Given the description of an element on the screen output the (x, y) to click on. 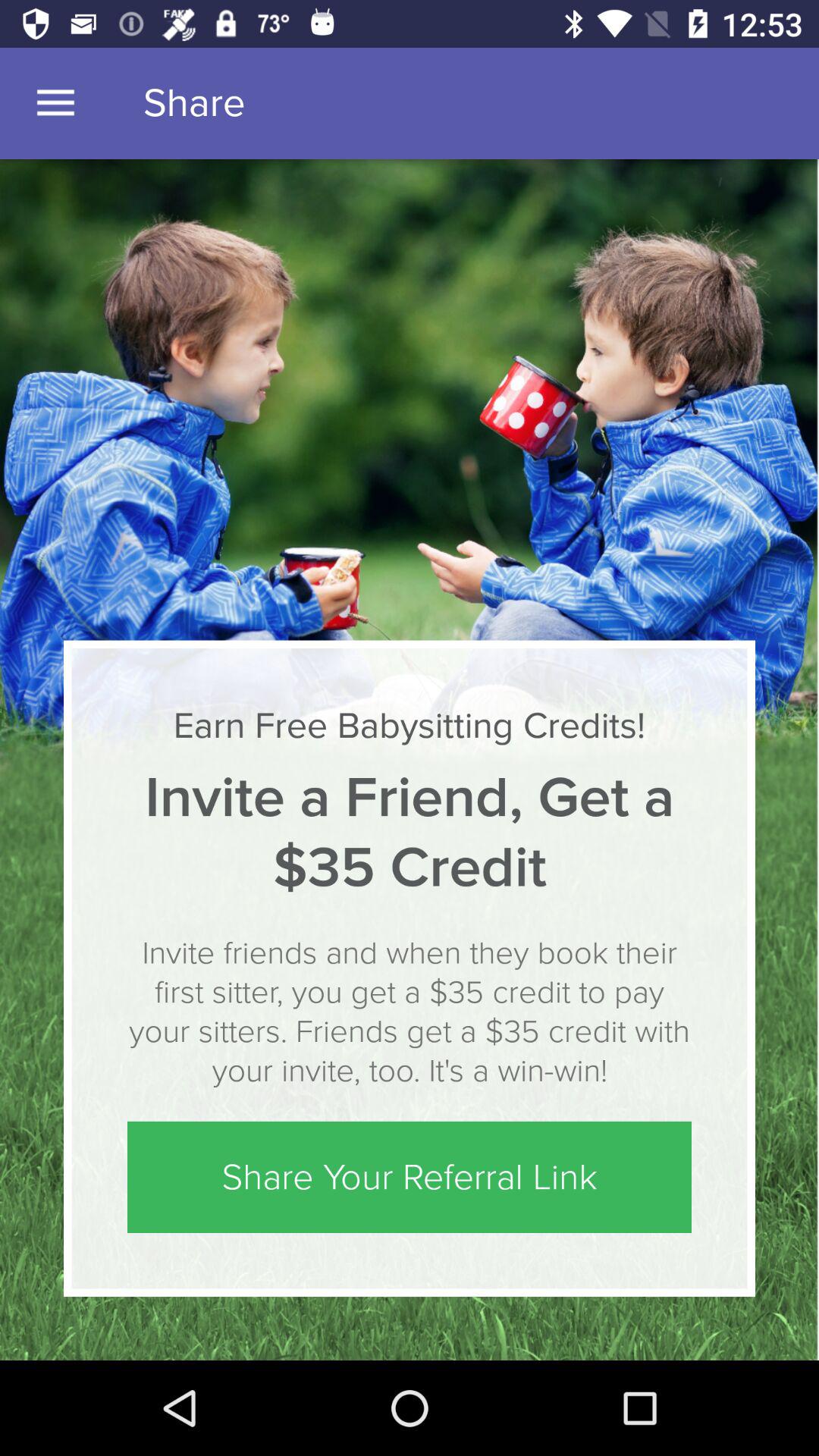
open the icon below invite friends and icon (409, 1177)
